Given the description of an element on the screen output the (x, y) to click on. 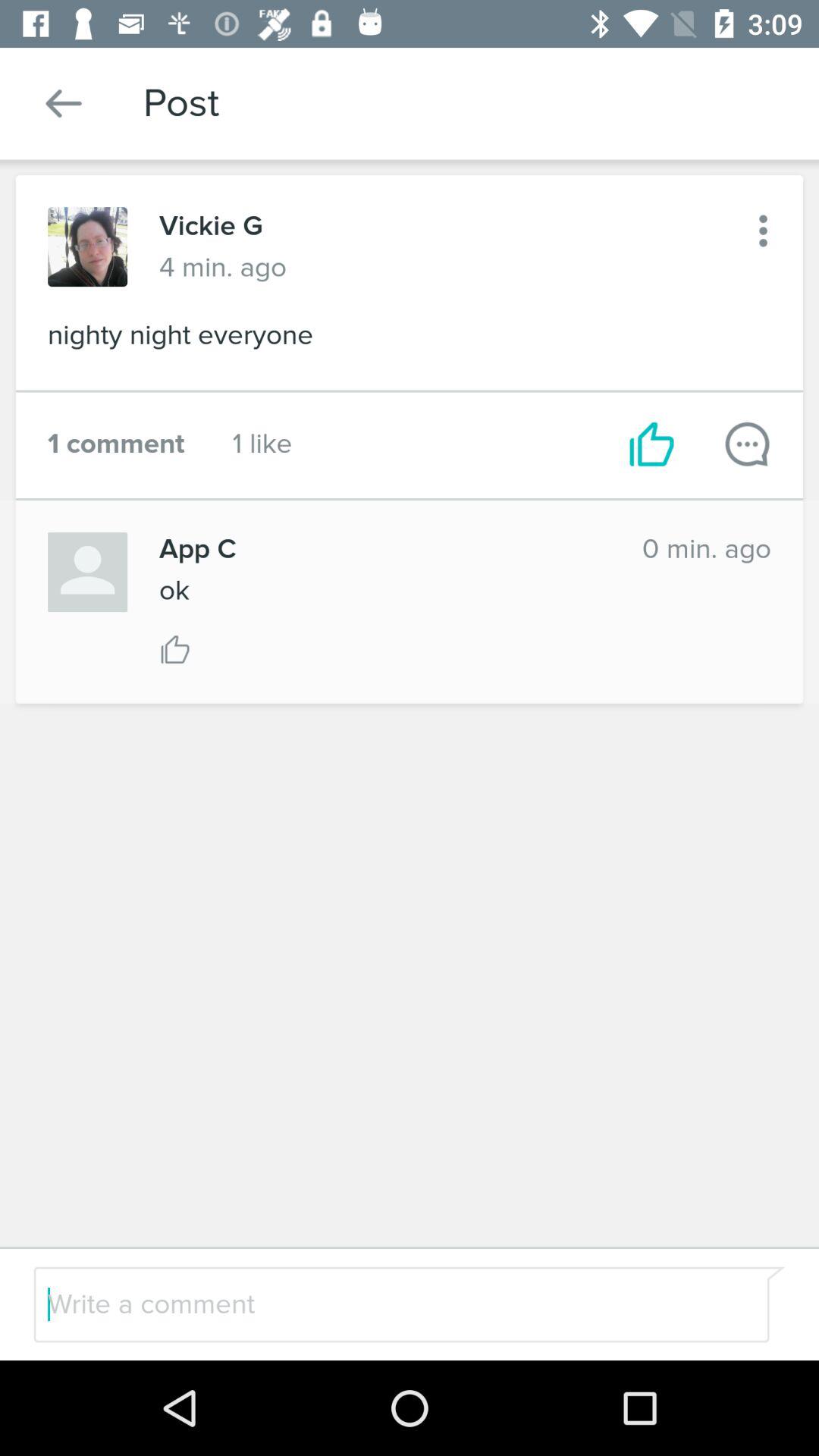
write a comment (369, 1304)
